Given the description of an element on the screen output the (x, y) to click on. 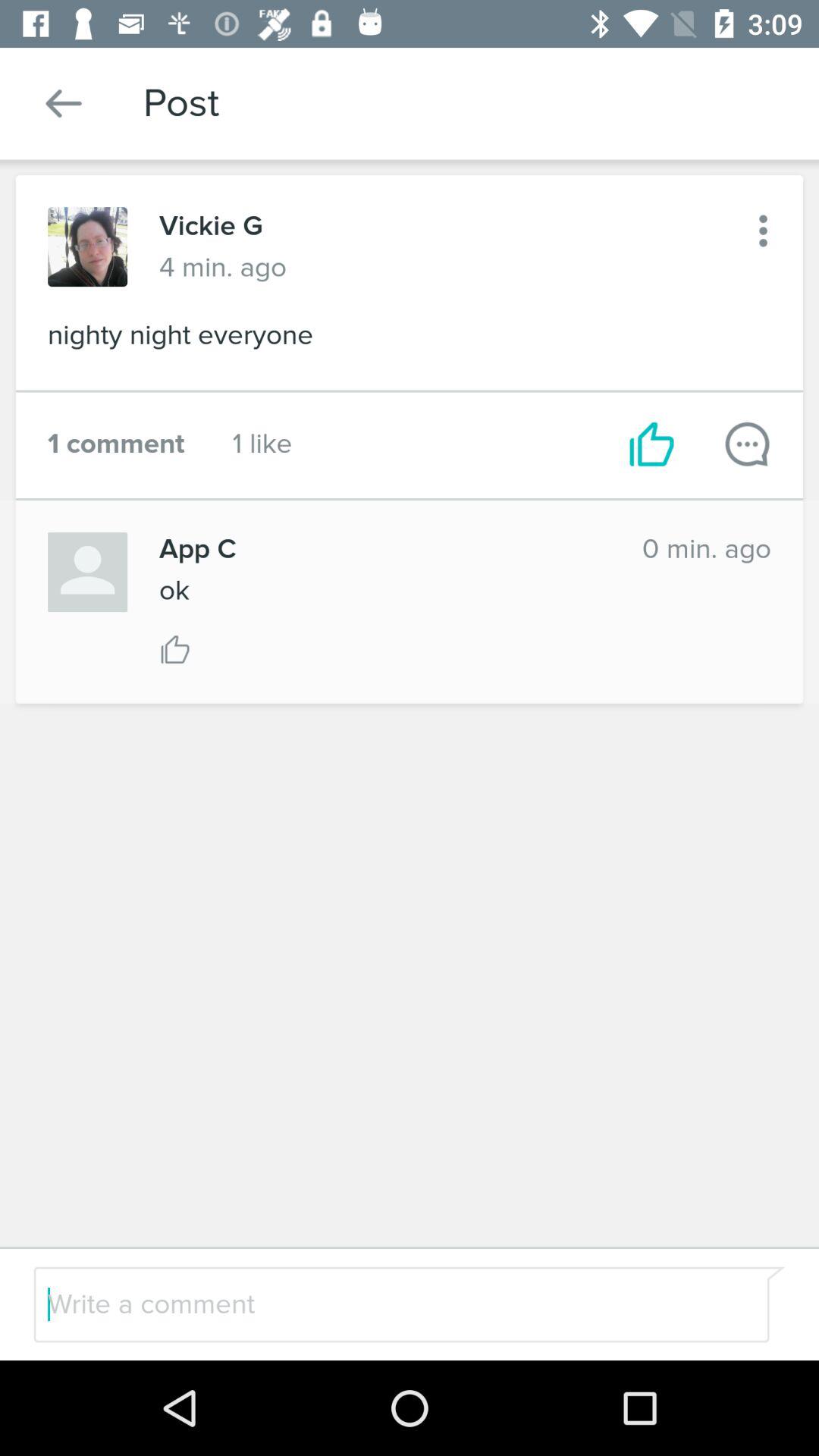
write a comment (369, 1304)
